Given the description of an element on the screen output the (x, y) to click on. 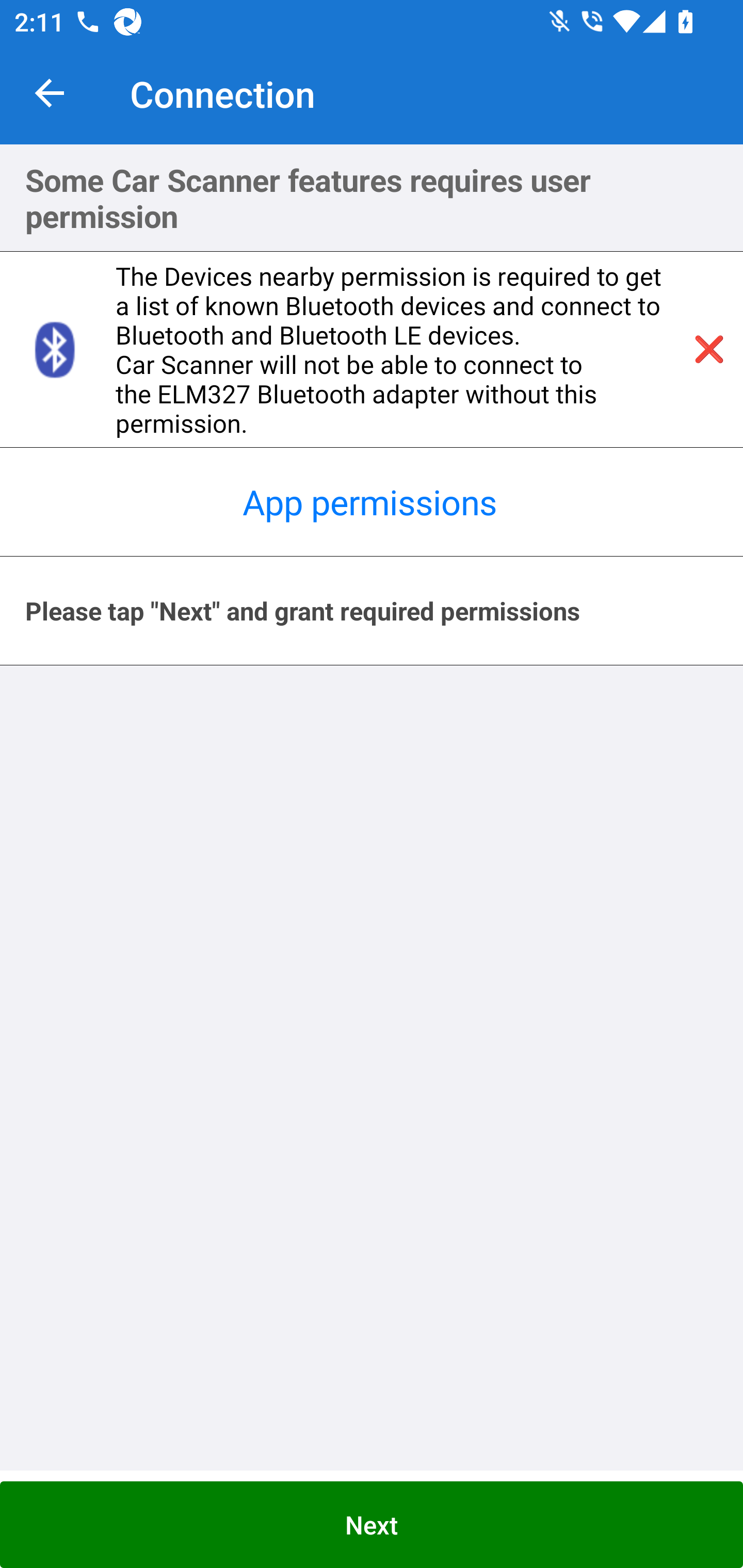
App permissions (371, 502)
Please tap "Next" and grant required permissions (371, 610)
Next (371, 1524)
